Given the description of an element on the screen output the (x, y) to click on. 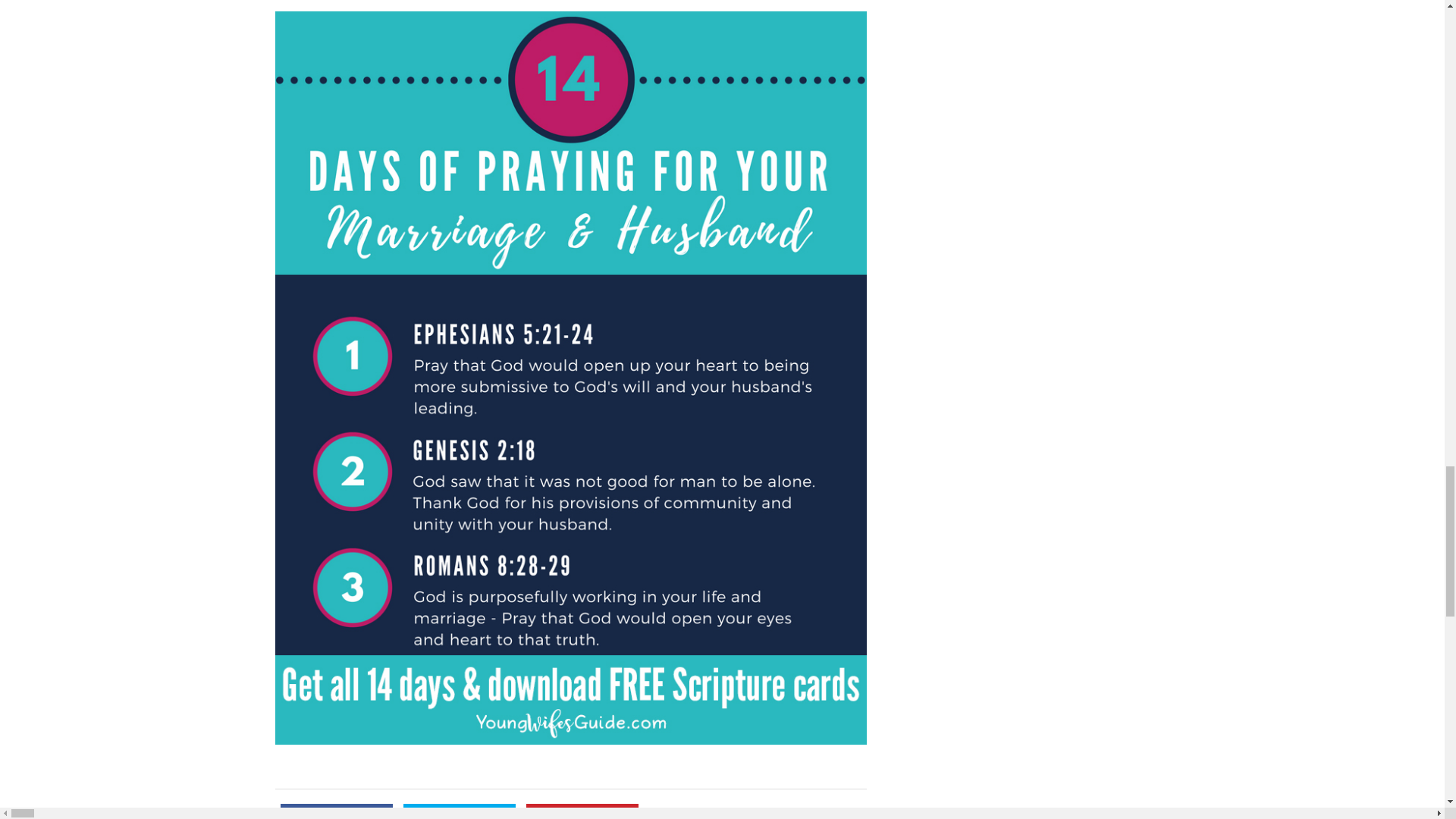
Pin (582, 811)
Tweet (459, 811)
Share (337, 811)
